Given the description of an element on the screen output the (x, y) to click on. 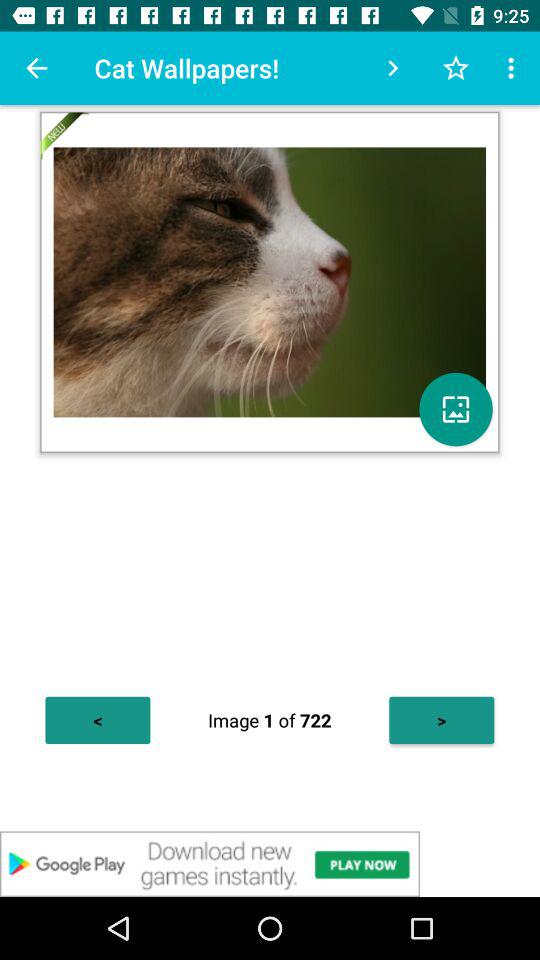
click advertisement (270, 864)
